Given the description of an element on the screen output the (x, y) to click on. 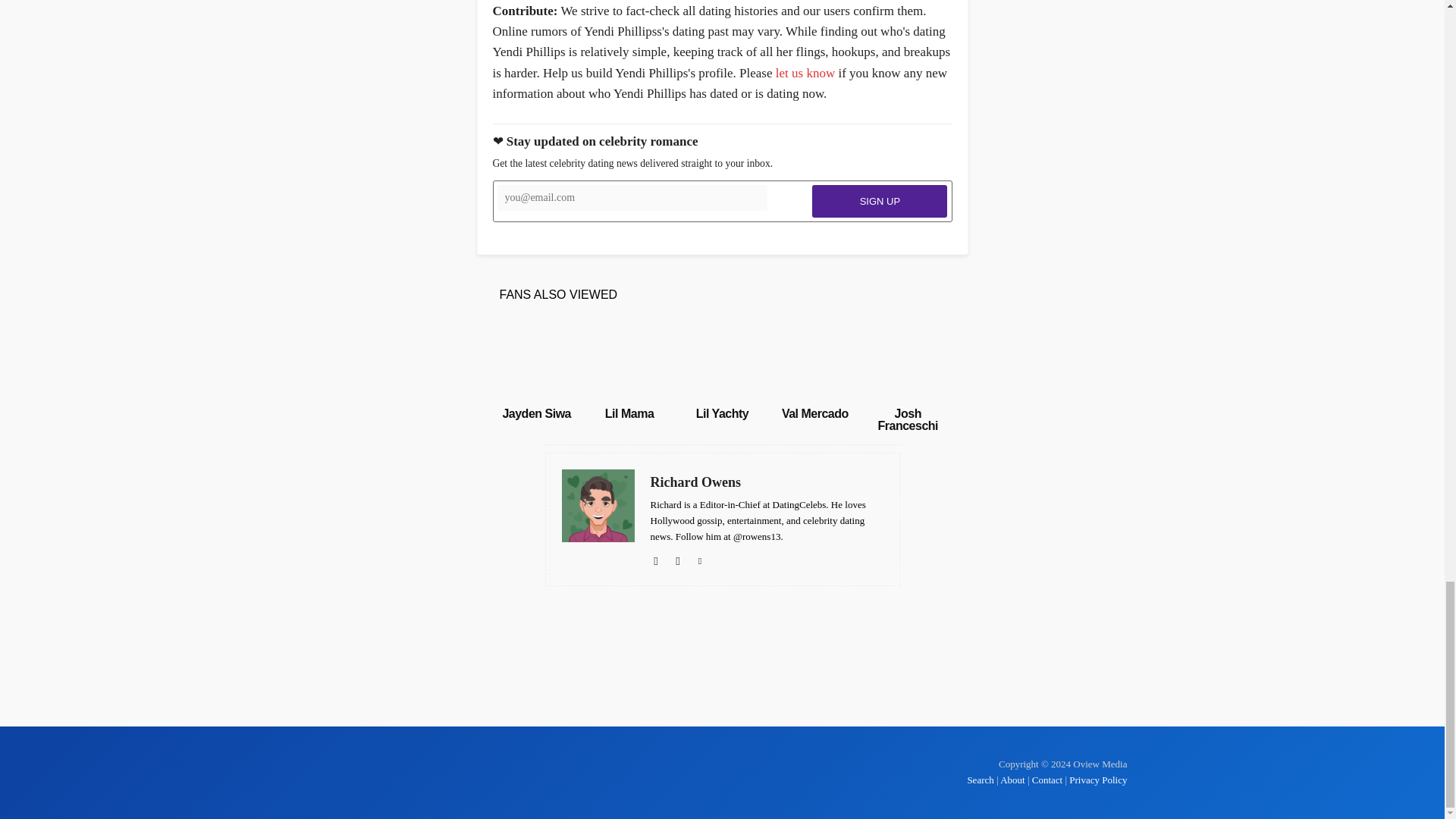
Privacy Policy (1097, 779)
Lil Yachty (721, 413)
Jayden Siwa (536, 360)
Lil Mama (629, 360)
Jayden Siwa (536, 413)
Contact (1047, 779)
Search (980, 779)
Lil Mama (629, 413)
Val Mercado (814, 413)
About (1012, 779)
Josh Franceschi (907, 419)
SIGN UP (879, 201)
Richard Owens (766, 482)
Lil Mama (629, 413)
Jayden Siwa (536, 413)
